Given the description of an element on the screen output the (x, y) to click on. 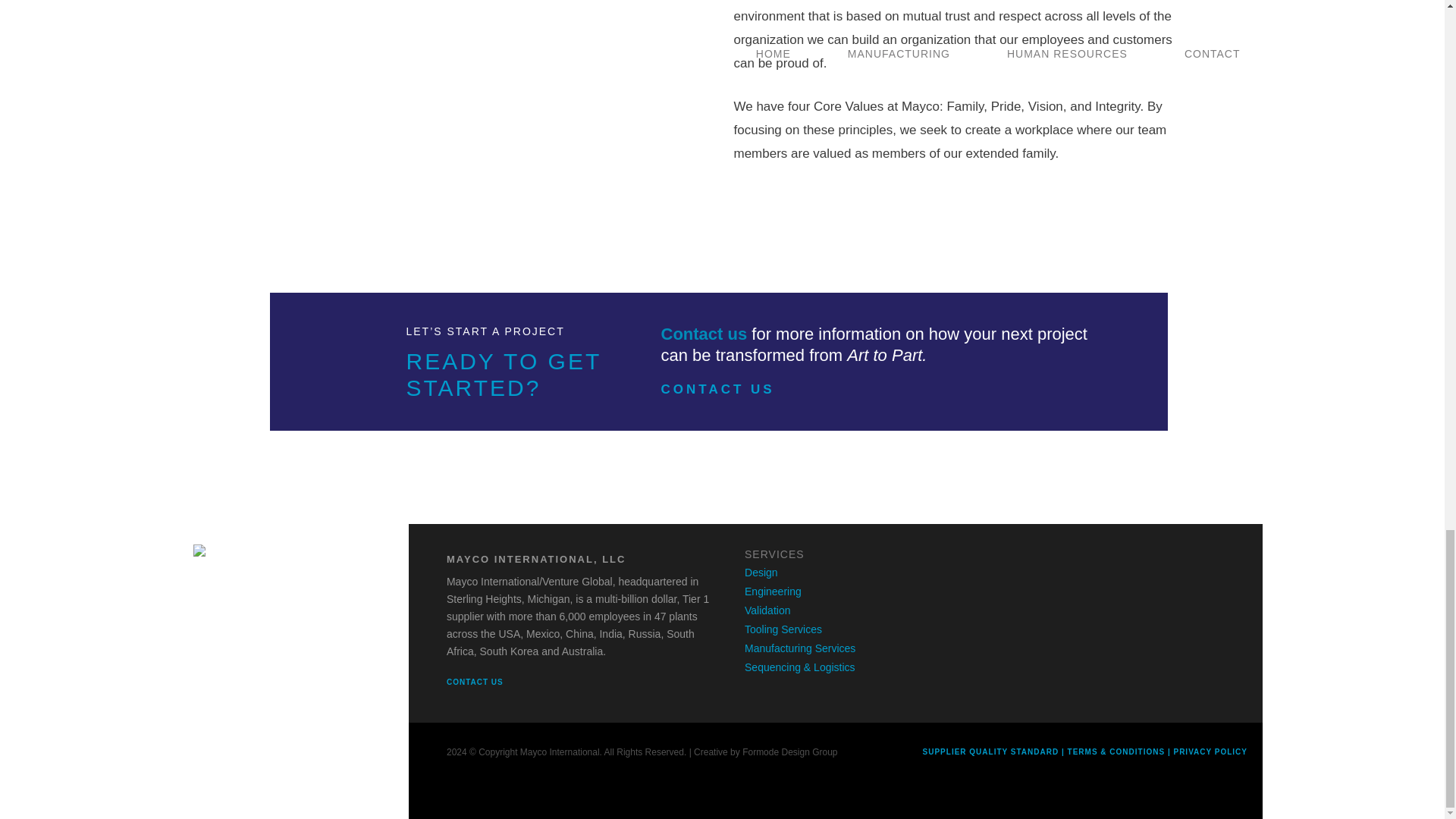
Validation (767, 610)
Design (760, 572)
Tooling Services (783, 629)
CONTACT US (487, 682)
Engineering (773, 591)
Manufacturing Services (800, 648)
Formode Design Group (789, 751)
PRIVACY POLICY (1210, 751)
CONTACT US (737, 389)
SUPPLIER QUALITY STANDARD (991, 751)
